Given the description of an element on the screen output the (x, y) to click on. 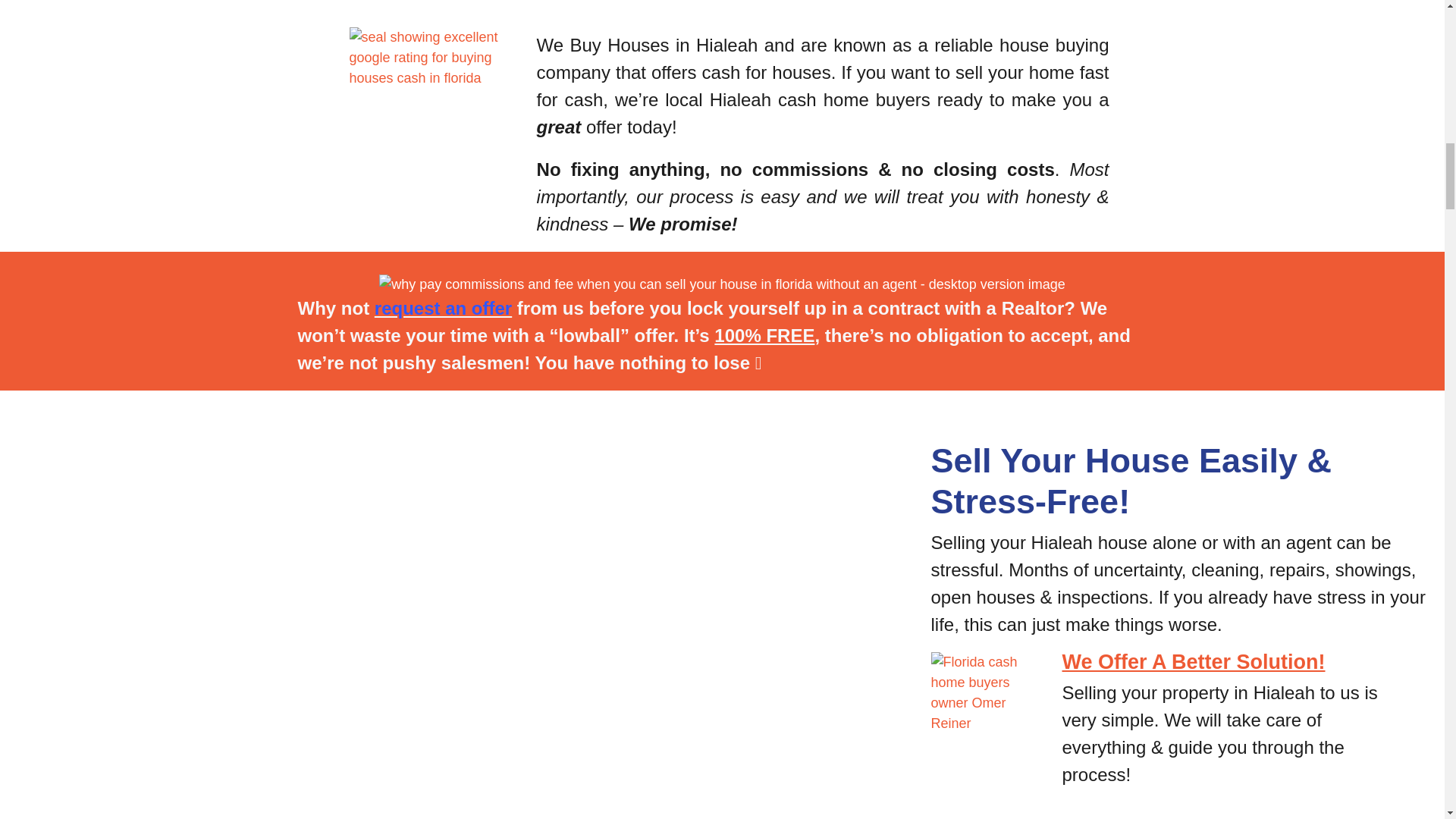
We Offer A Better Solution! (1192, 661)
request an offer (443, 308)
